Given the description of an element on the screen output the (x, y) to click on. 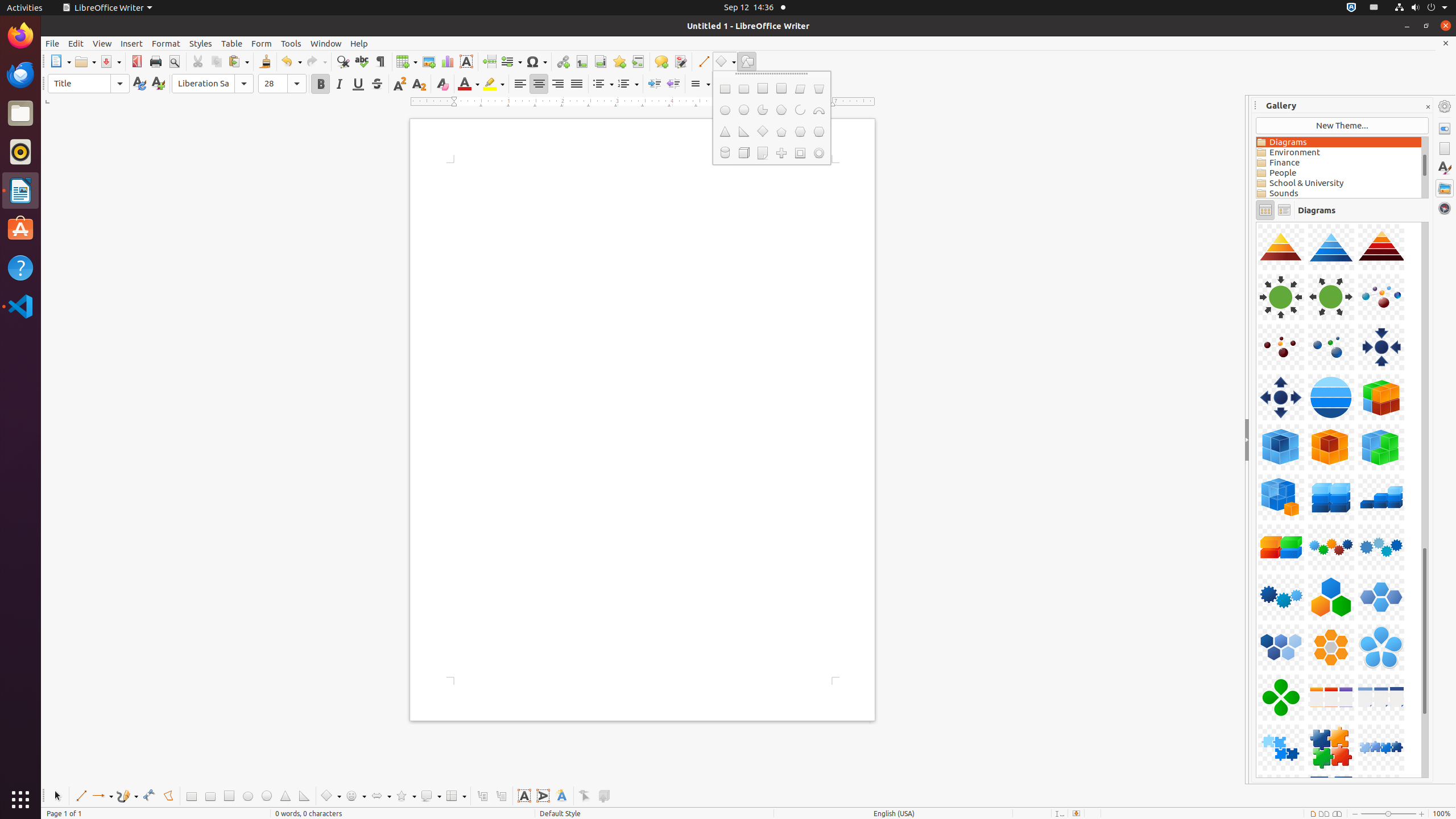
Edit Element type: menu (75, 43)
Component-Circle04-Transparent-Orange Element type: list-item (1256, 222)
Comment Element type: push-button (660, 61)
Component-Circle01-Transparent-DarkBlue Element type: list-item (1256, 222)
Highlight Color Element type: push-button (493, 83)
